Given the description of an element on the screen output the (x, y) to click on. 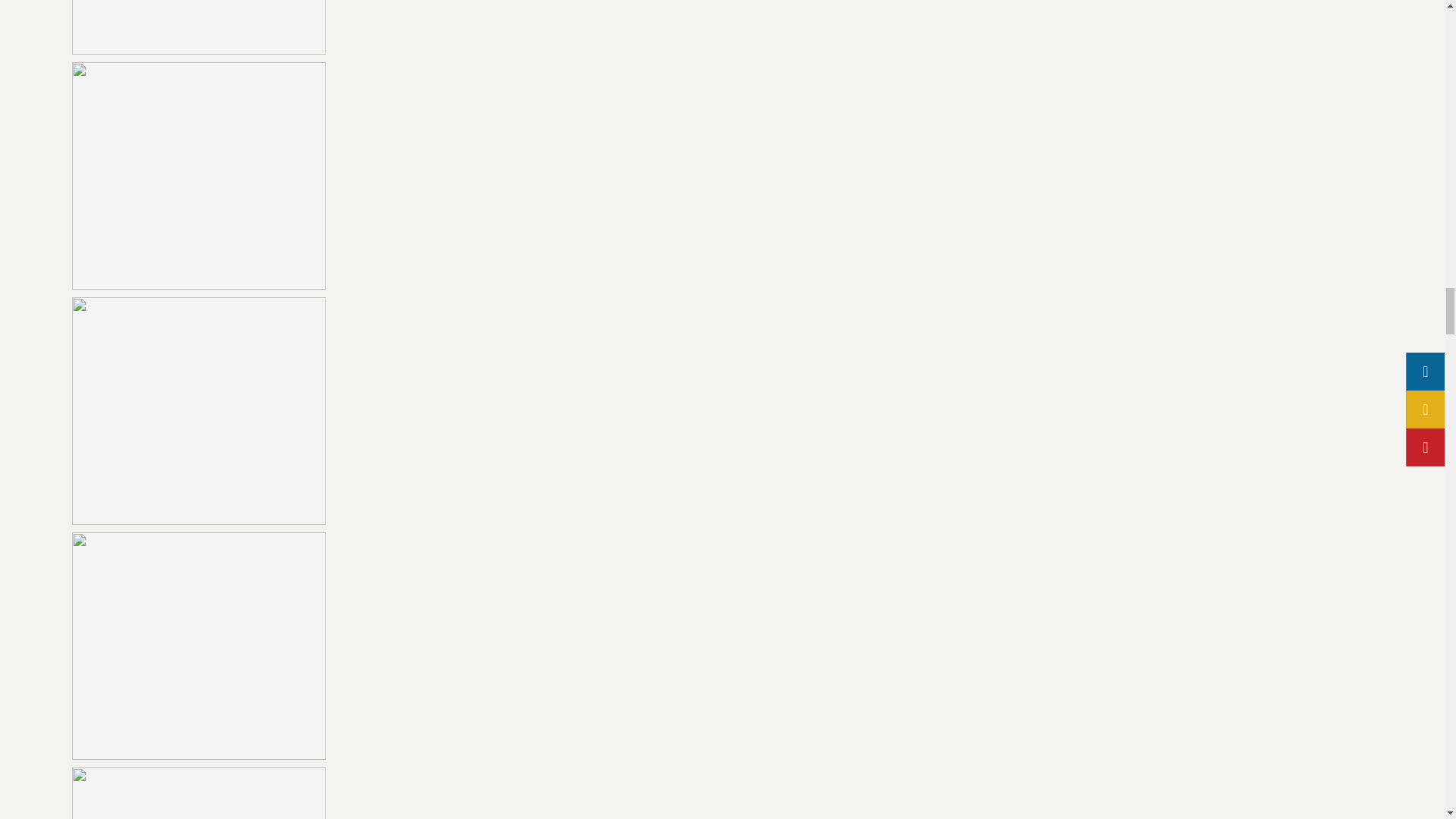
IMG-4229 (198, 410)
IMG-4230 (198, 646)
IMG-4226 (198, 27)
IMG-4228 (198, 175)
IMG-4232 (198, 793)
